Given the description of an element on the screen output the (x, y) to click on. 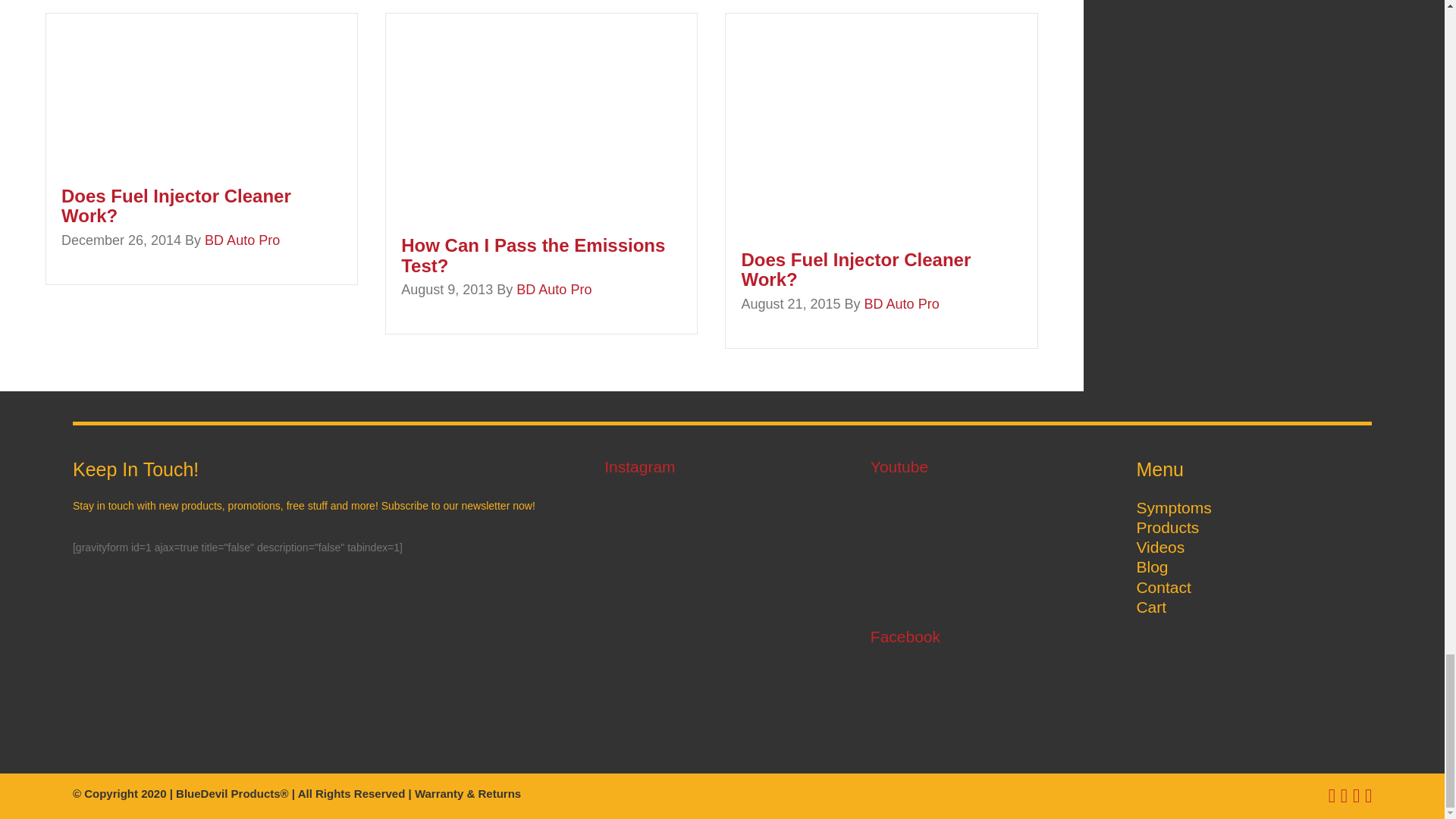
Does Fuel Injector Cleaner Work? (176, 205)
How Can I Pass the Emissions Test? (533, 255)
facebook-footer (978, 701)
How Can I Pass the Emissions Test? (541, 115)
youtube-footer (979, 545)
instagram-footer (722, 607)
Does Fuel Injector Cleaner Work? (856, 269)
Does Fuel Injector Cleaner Work? (880, 123)
Does Fuel Injector Cleaner Work? (159, 91)
